Given the description of an element on the screen output the (x, y) to click on. 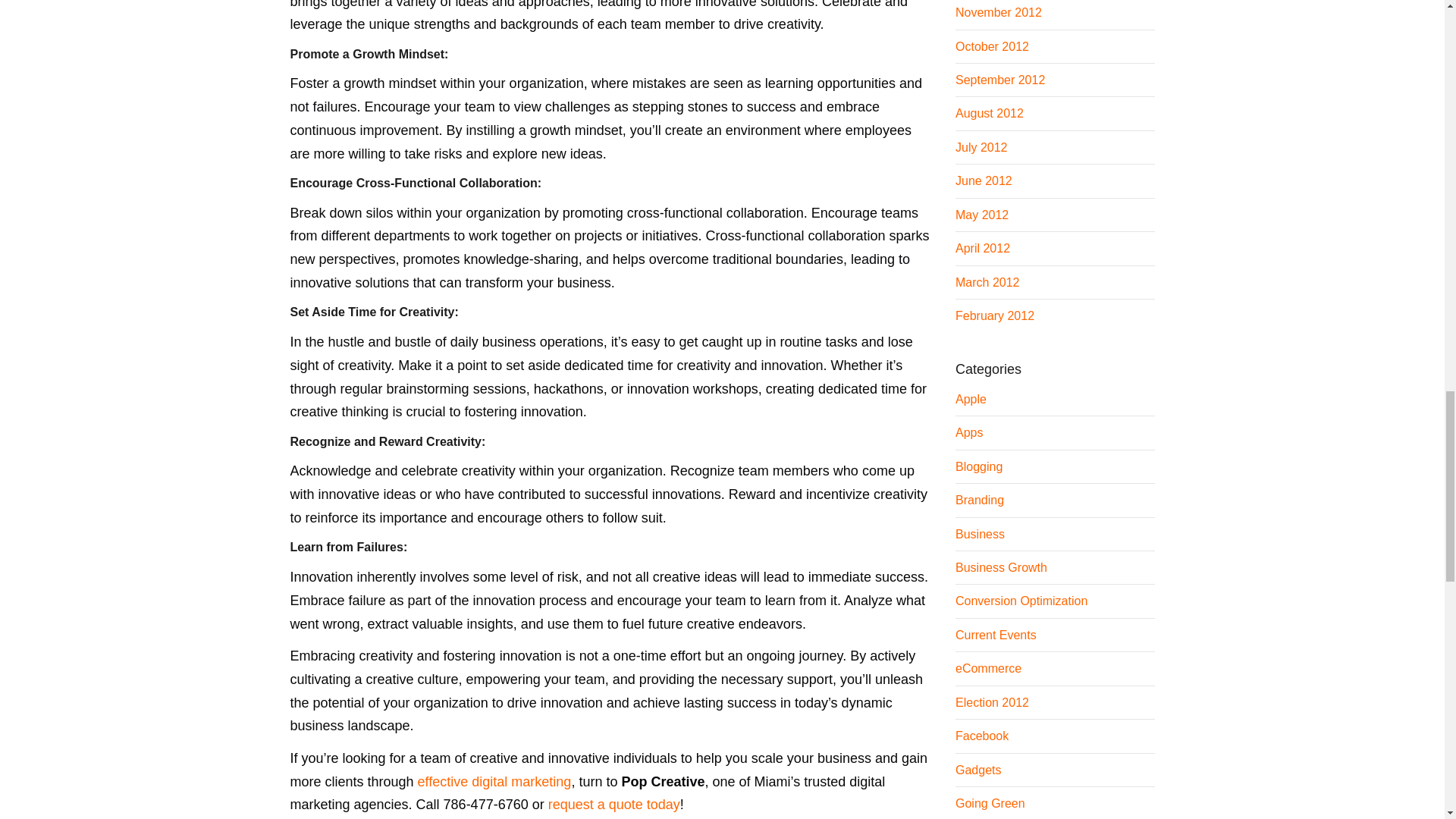
effective digital marketing (494, 781)
request a quote today (613, 804)
